Given the description of an element on the screen output the (x, y) to click on. 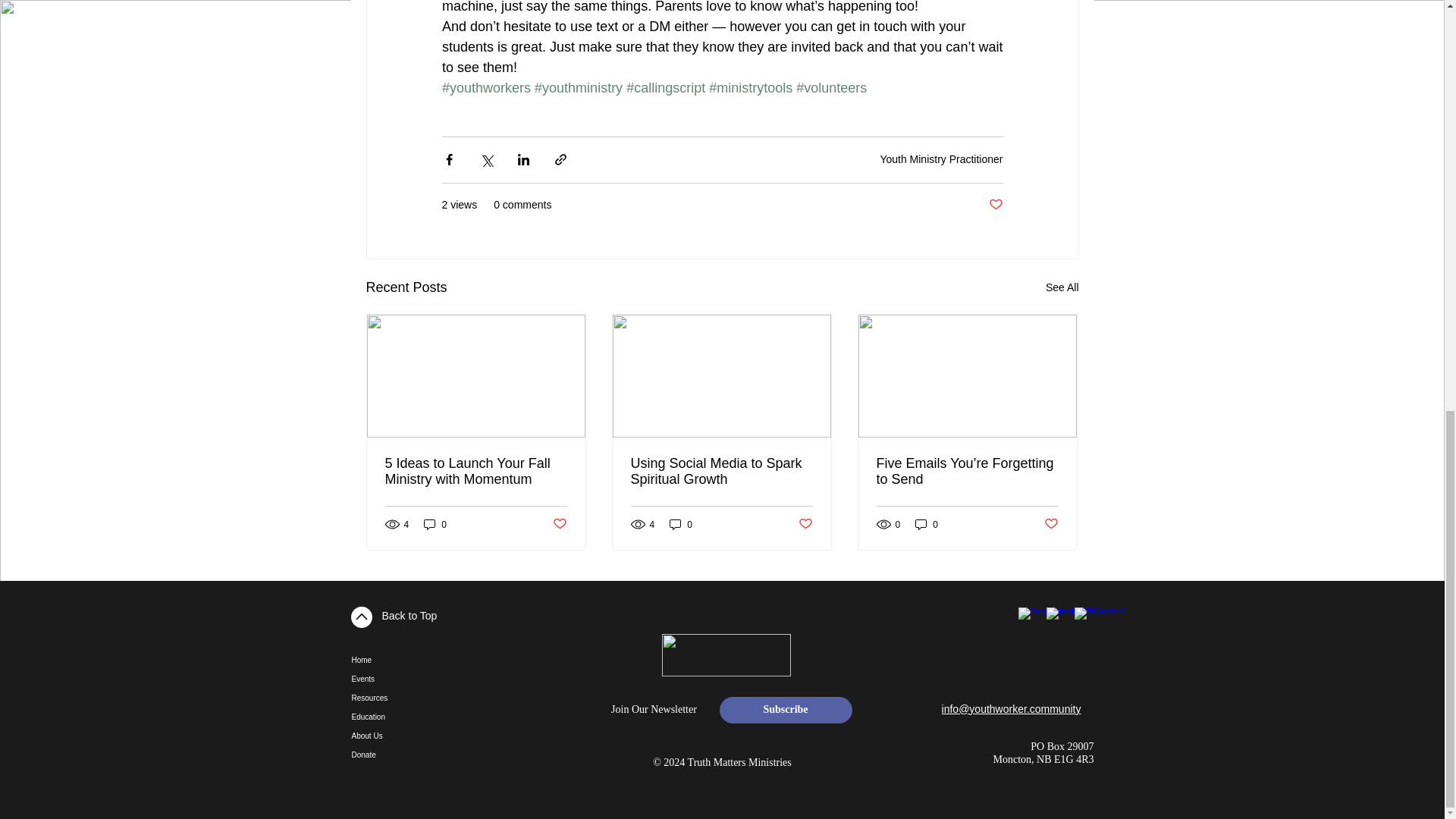
5 Ideas to Launch Your Fall Ministry with Momentum (476, 471)
Youth Ministry Practitioner (941, 159)
See All (1061, 287)
0 (435, 523)
Post not marked as liked (995, 204)
